Given the description of an element on the screen output the (x, y) to click on. 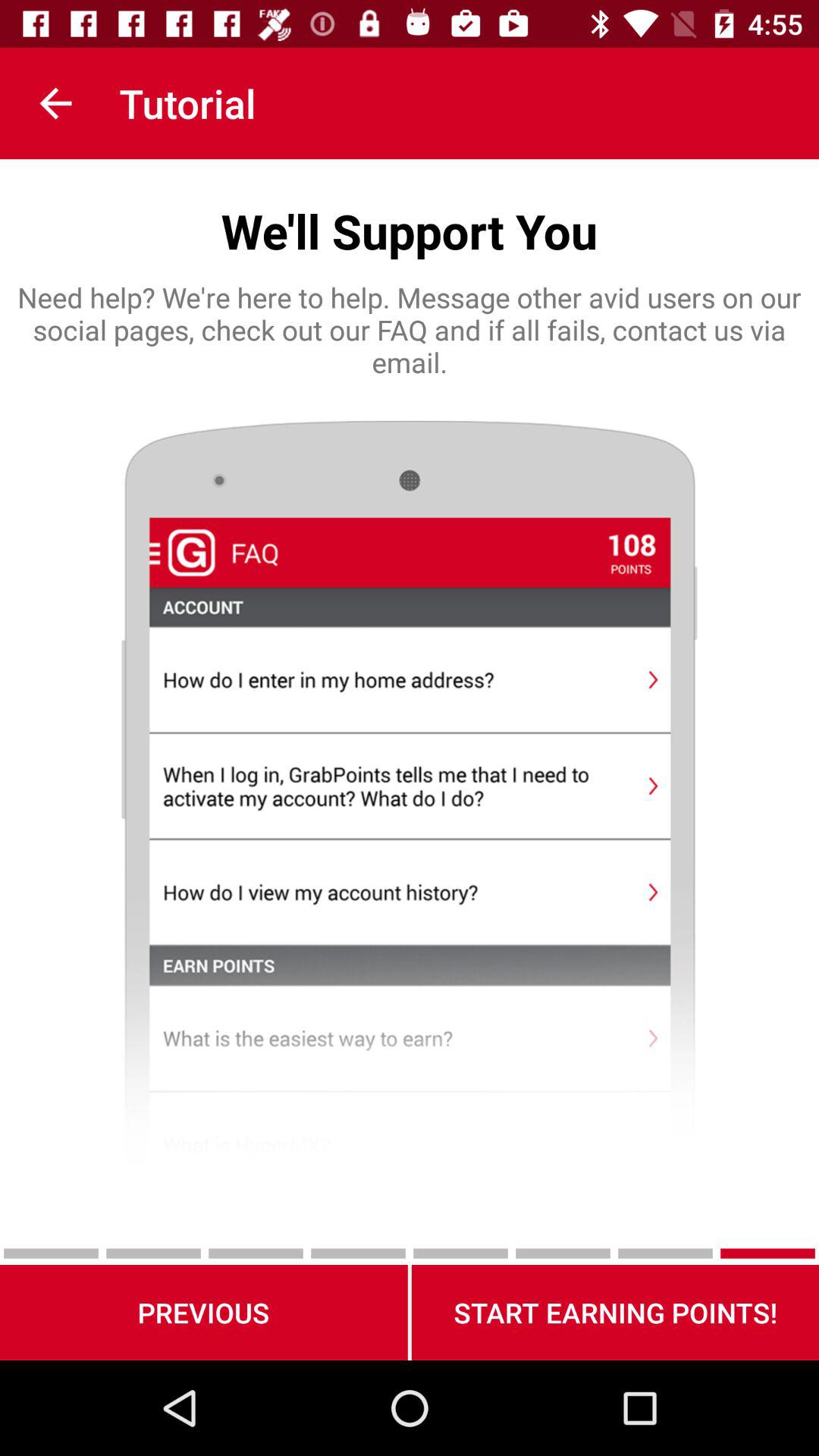
launch the previous (203, 1312)
